Given the description of an element on the screen output the (x, y) to click on. 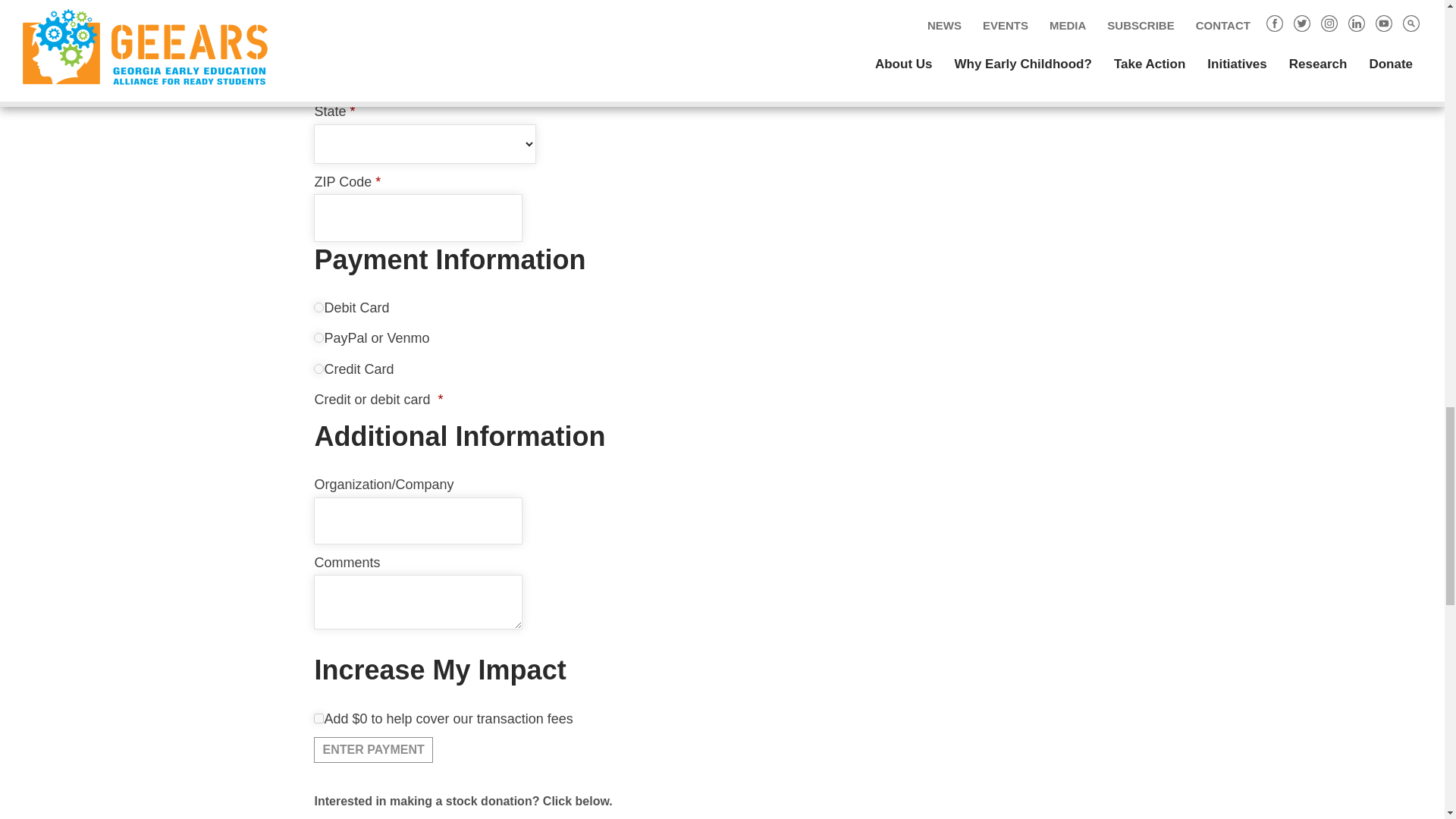
on (318, 368)
on (318, 718)
Enter Payment (373, 749)
on (318, 337)
on (318, 307)
